Given the description of an element on the screen output the (x, y) to click on. 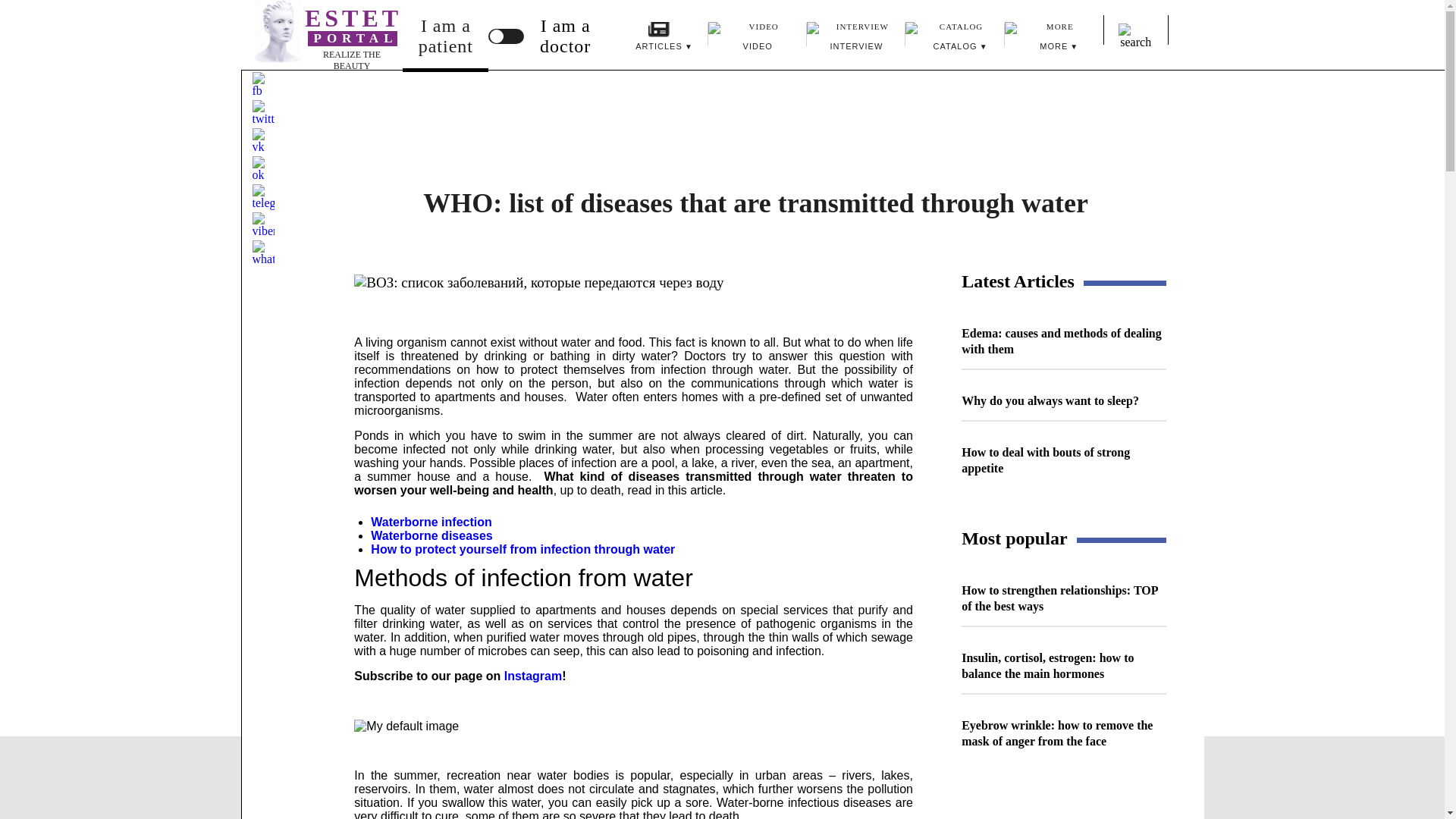
VIDEO (322, 45)
I am a patient (756, 38)
How to protect yourself from infection (446, 35)
CATALOG (482, 549)
through water (954, 38)
Waterborne diseases (634, 549)
ARTICLES (431, 535)
Estet-Portal (658, 38)
INTERVIEW (278, 31)
MORE (855, 38)
Waterborne infection (1053, 38)
